Given the description of an element on the screen output the (x, y) to click on. 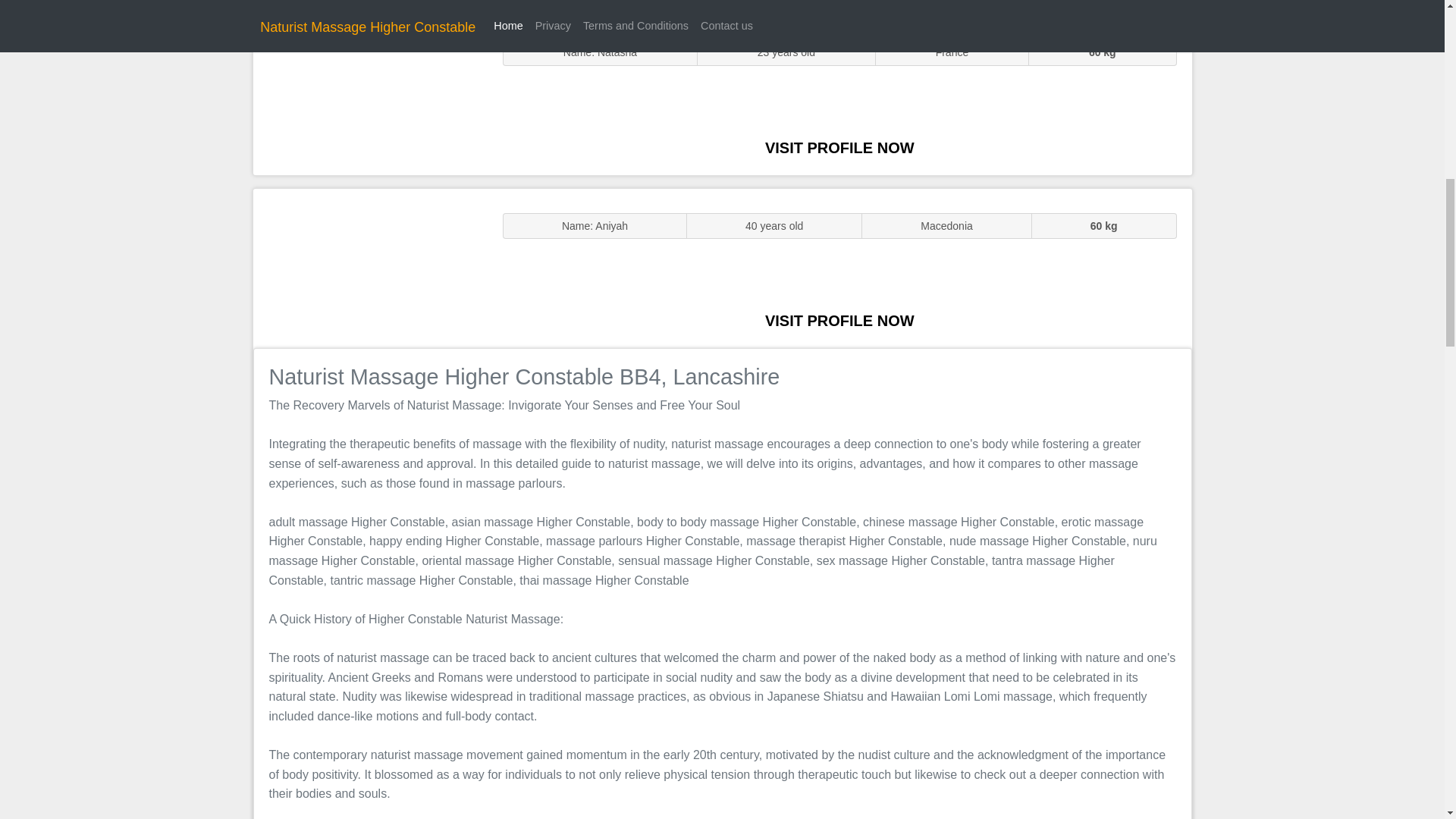
Sluts (370, 94)
VISIT PROFILE NOW (839, 147)
Massage (370, 267)
VISIT PROFILE NOW (839, 320)
